Given the description of an element on the screen output the (x, y) to click on. 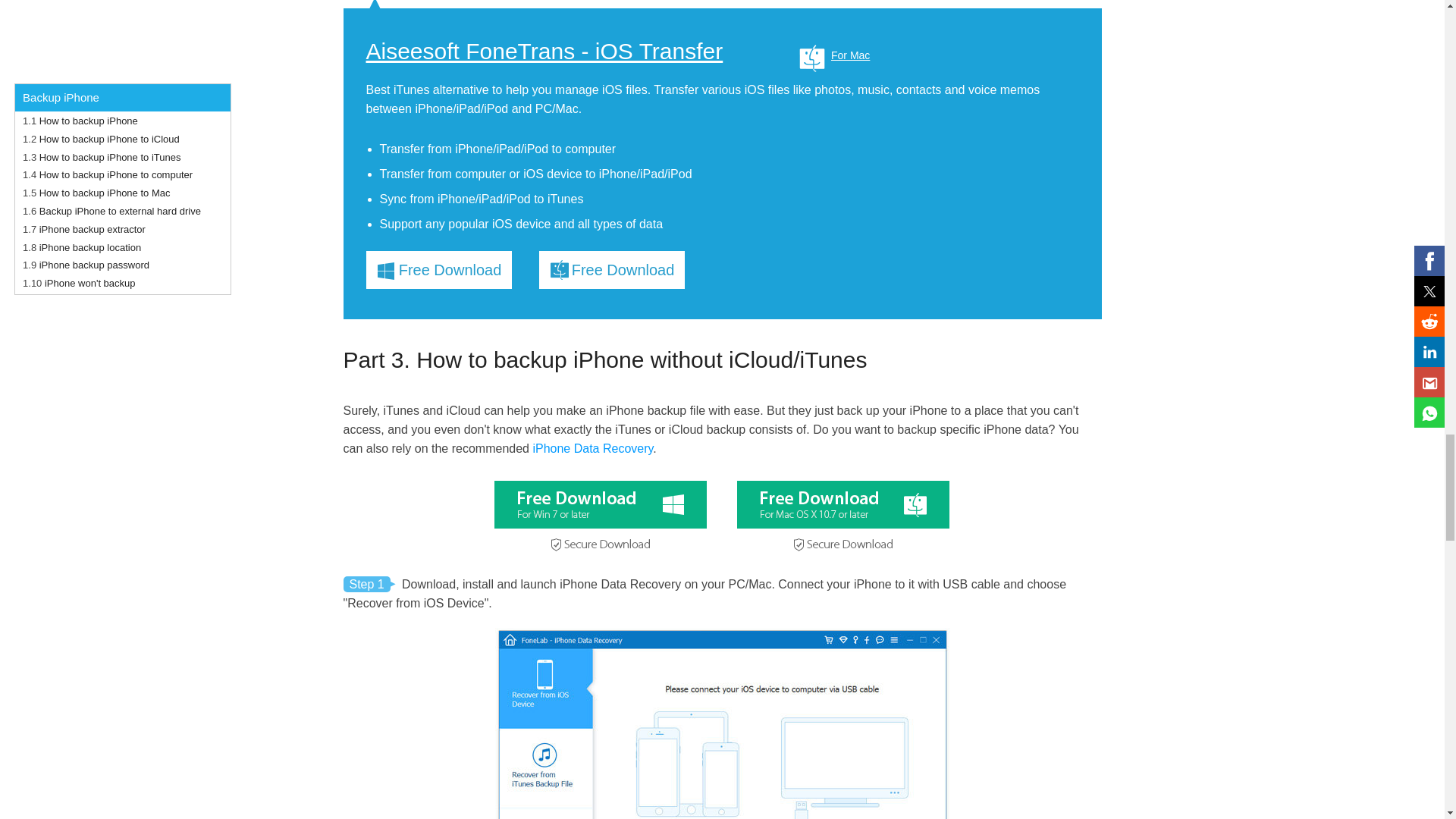
For Mac (830, 55)
Aiseesoft FoneTrans - iOS Transfer (543, 51)
Free Download (438, 269)
Free Download (611, 269)
iPhone Data Recovery (592, 448)
